Given the description of an element on the screen output the (x, y) to click on. 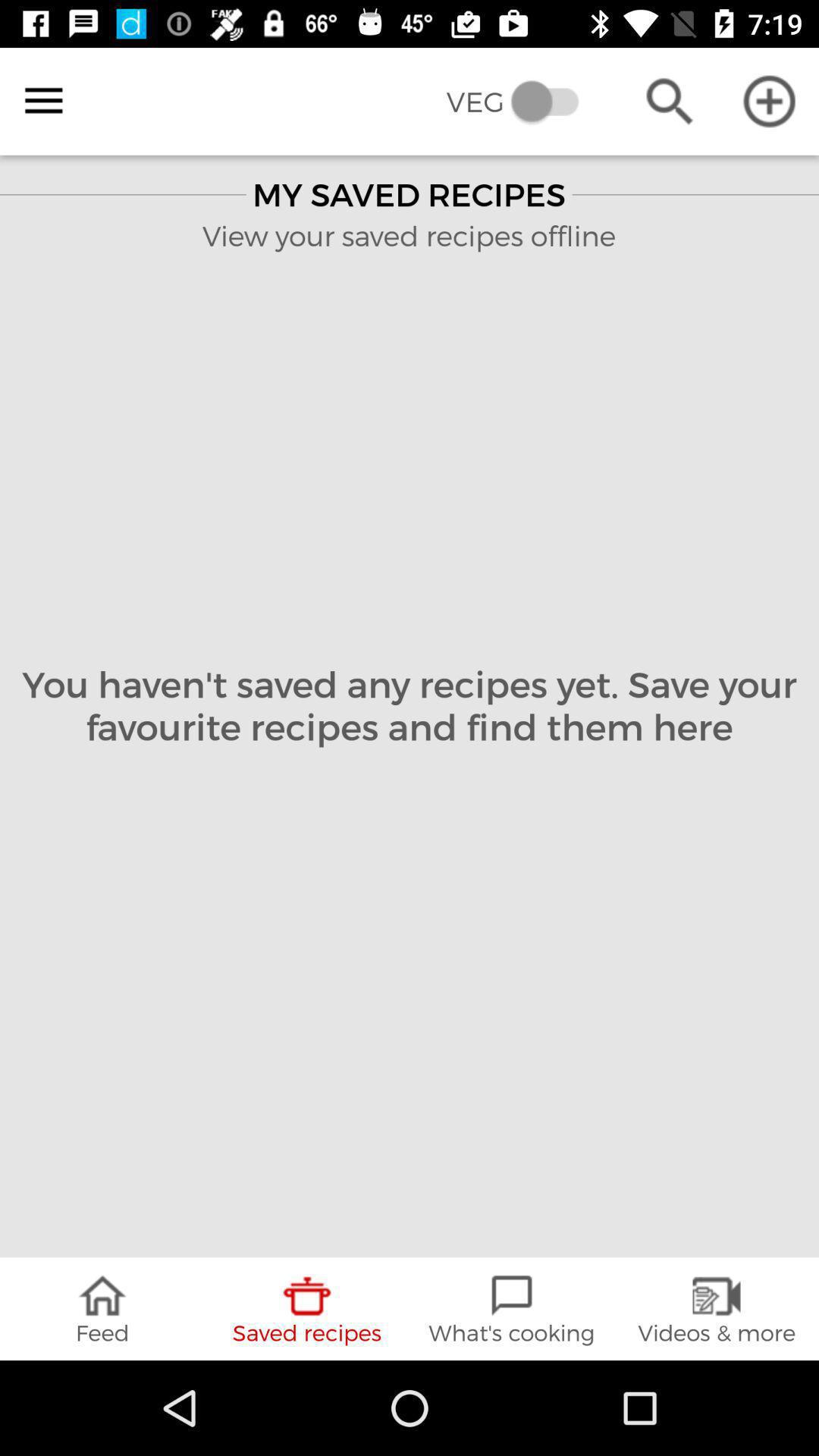
jump until the videos & more (716, 1308)
